Given the description of an element on the screen output the (x, y) to click on. 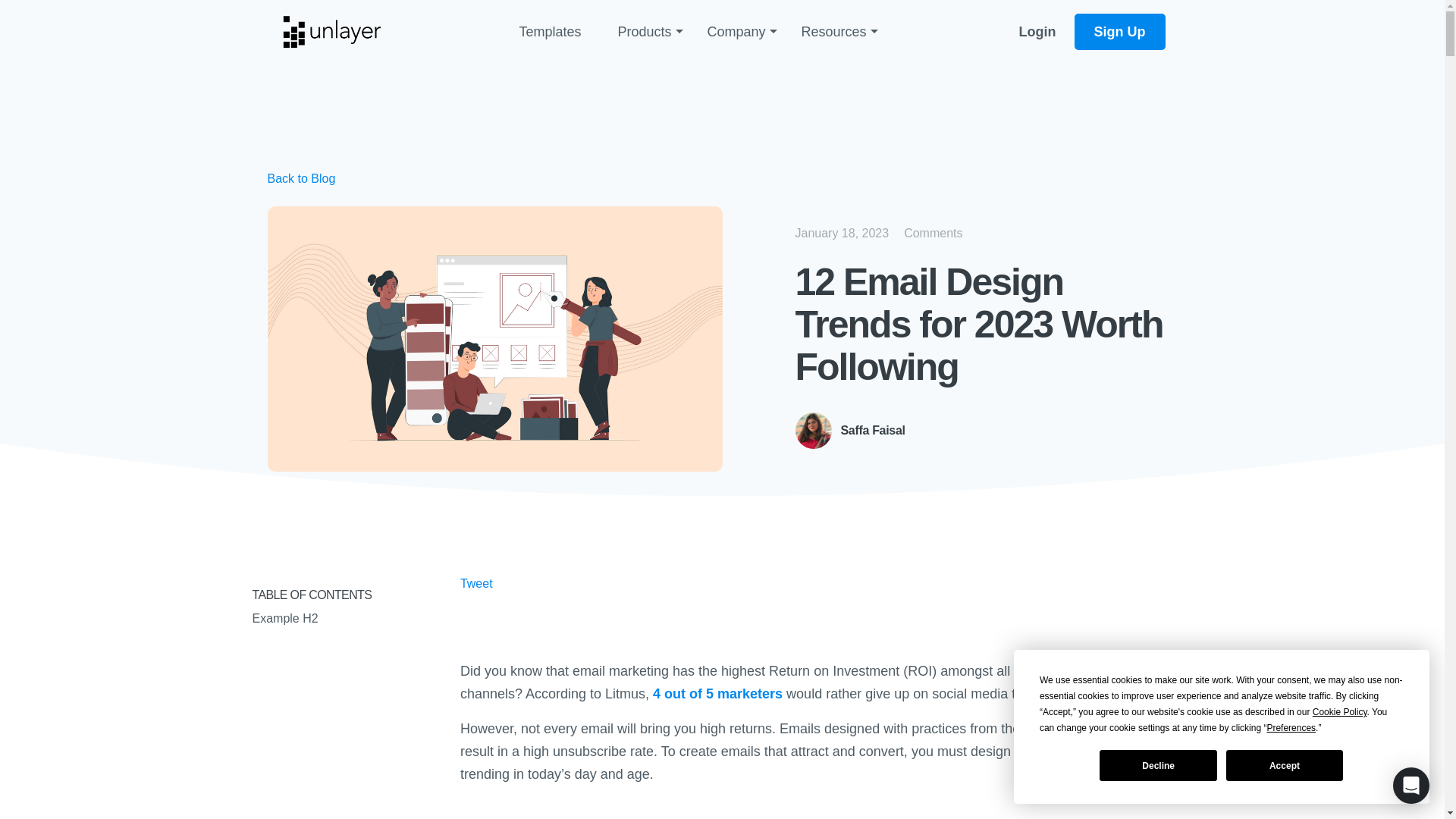
Tweet (476, 583)
Comments (933, 233)
Saffa Faisal (849, 430)
Back to Blog (300, 178)
Templates (549, 31)
Decline (1157, 765)
Example H2 (335, 618)
Login (1037, 31)
Sign Up (1119, 31)
4 out of 5 marketers (717, 693)
Accept (1283, 765)
